Given the description of an element on the screen output the (x, y) to click on. 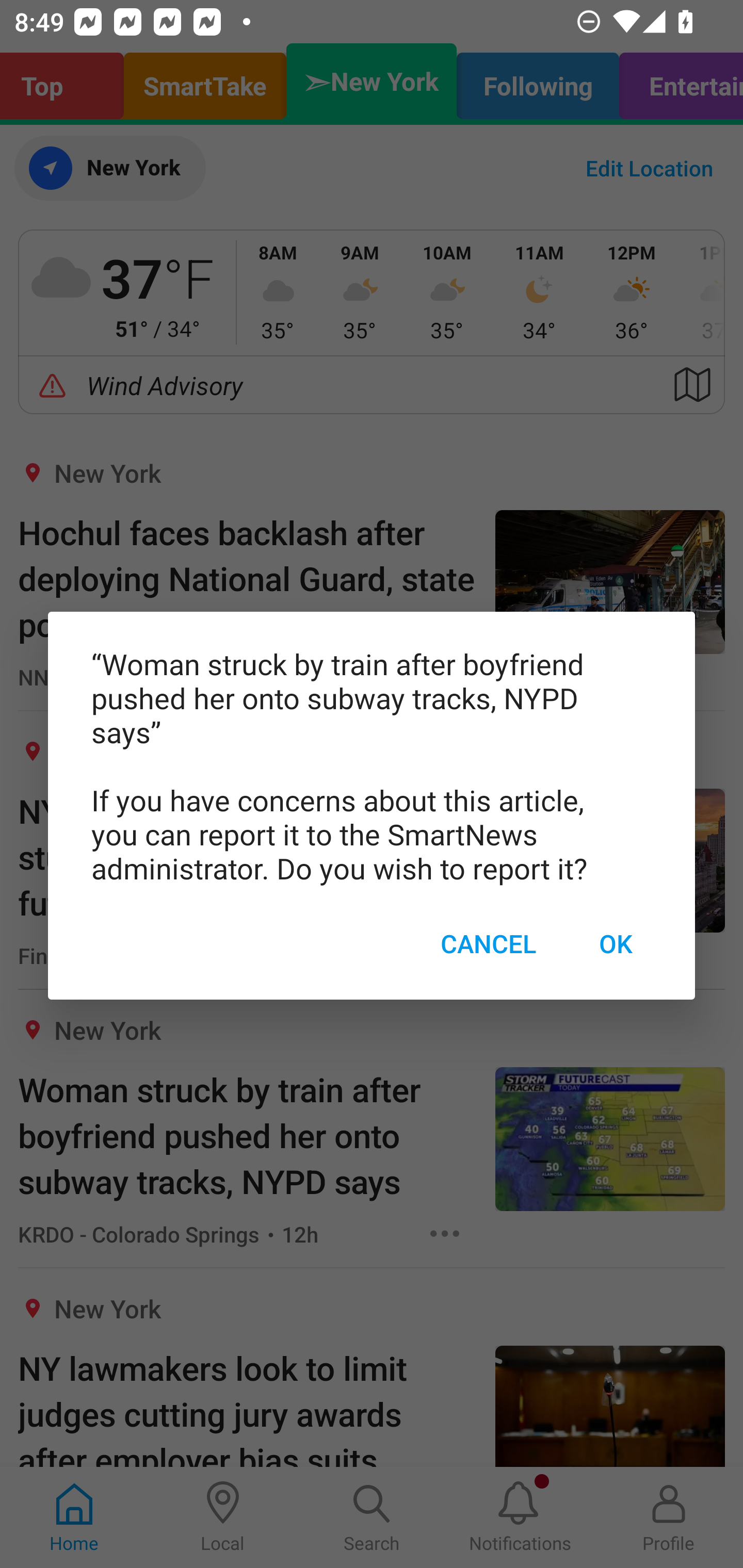
CANCEL (488, 943)
OK (615, 943)
